Given the description of an element on the screen output the (x, y) to click on. 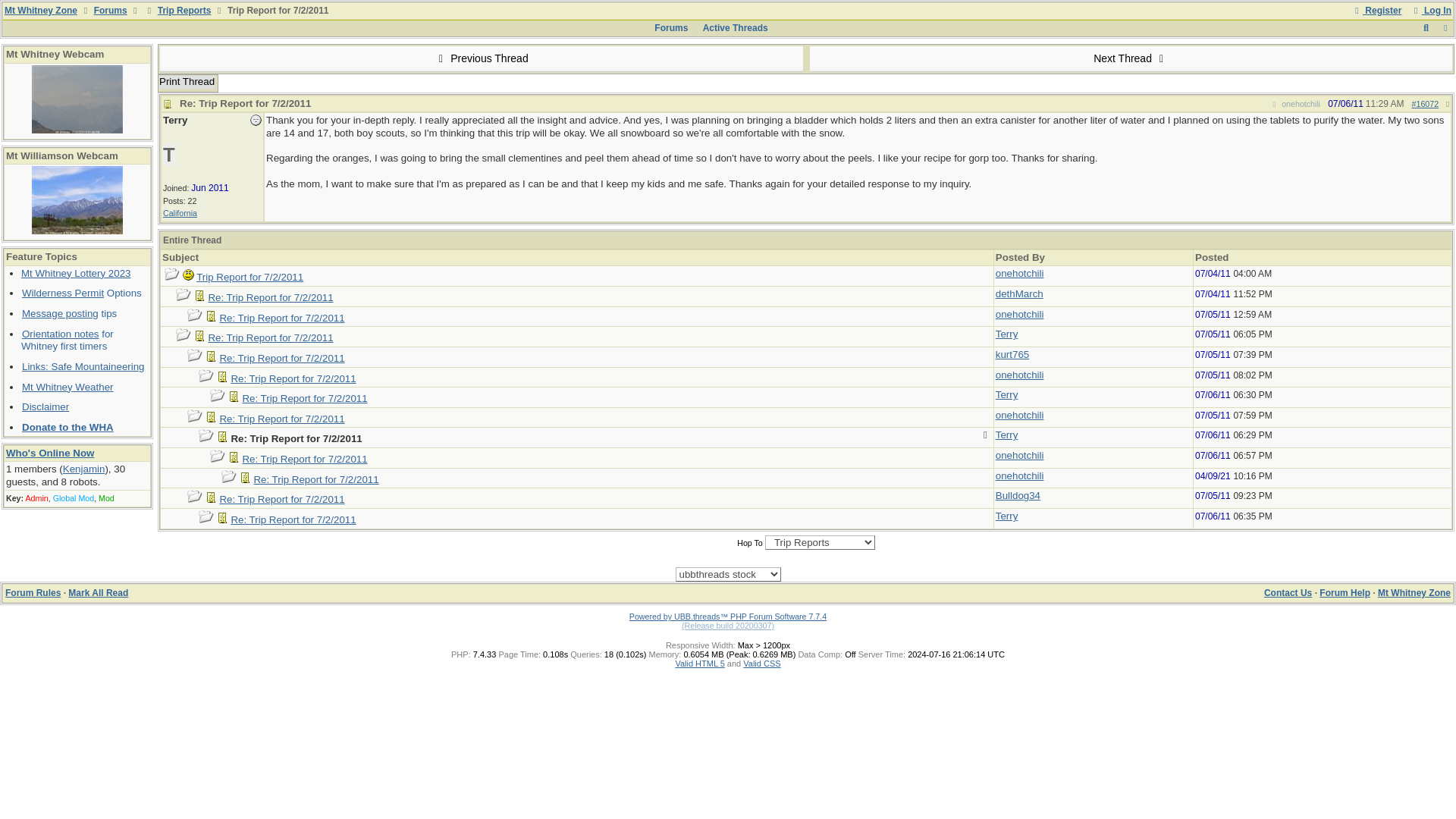
Offline (256, 120)
Mt Whitney Zone (40, 9)
Donate to the WHA (67, 427)
Links: Safe Mountaineering (82, 366)
in reply to (1294, 103)
Who's Online Now (49, 452)
Trip Reports (184, 9)
Log In (1430, 9)
onehotchili (1019, 273)
Wilderness Permit (62, 292)
Mt Whitney Lottery 2023 (76, 273)
Mt Whitney Weather (67, 387)
Register (1375, 9)
Terry (175, 120)
